Given the description of an element on the screen output the (x, y) to click on. 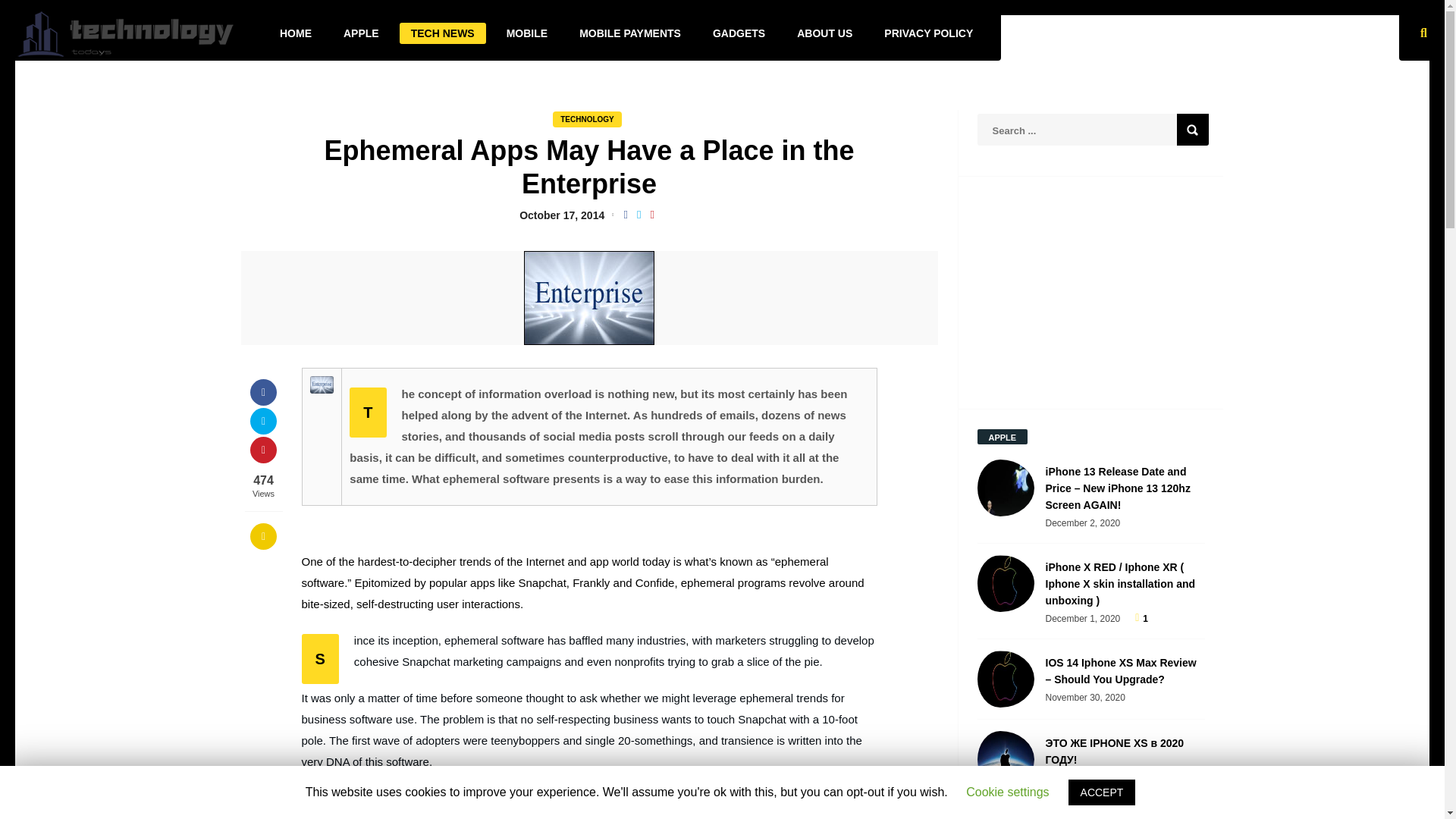
TECH NEWS (442, 33)
TECHNOLOGY (587, 119)
PRIVACY POLICY (928, 33)
APPLE (360, 33)
GADGETS (738, 33)
HOME (295, 33)
MOBILE (527, 33)
ABOUT US (824, 33)
MOBILE PAYMENTS (630, 33)
